Given the description of an element on the screen output the (x, y) to click on. 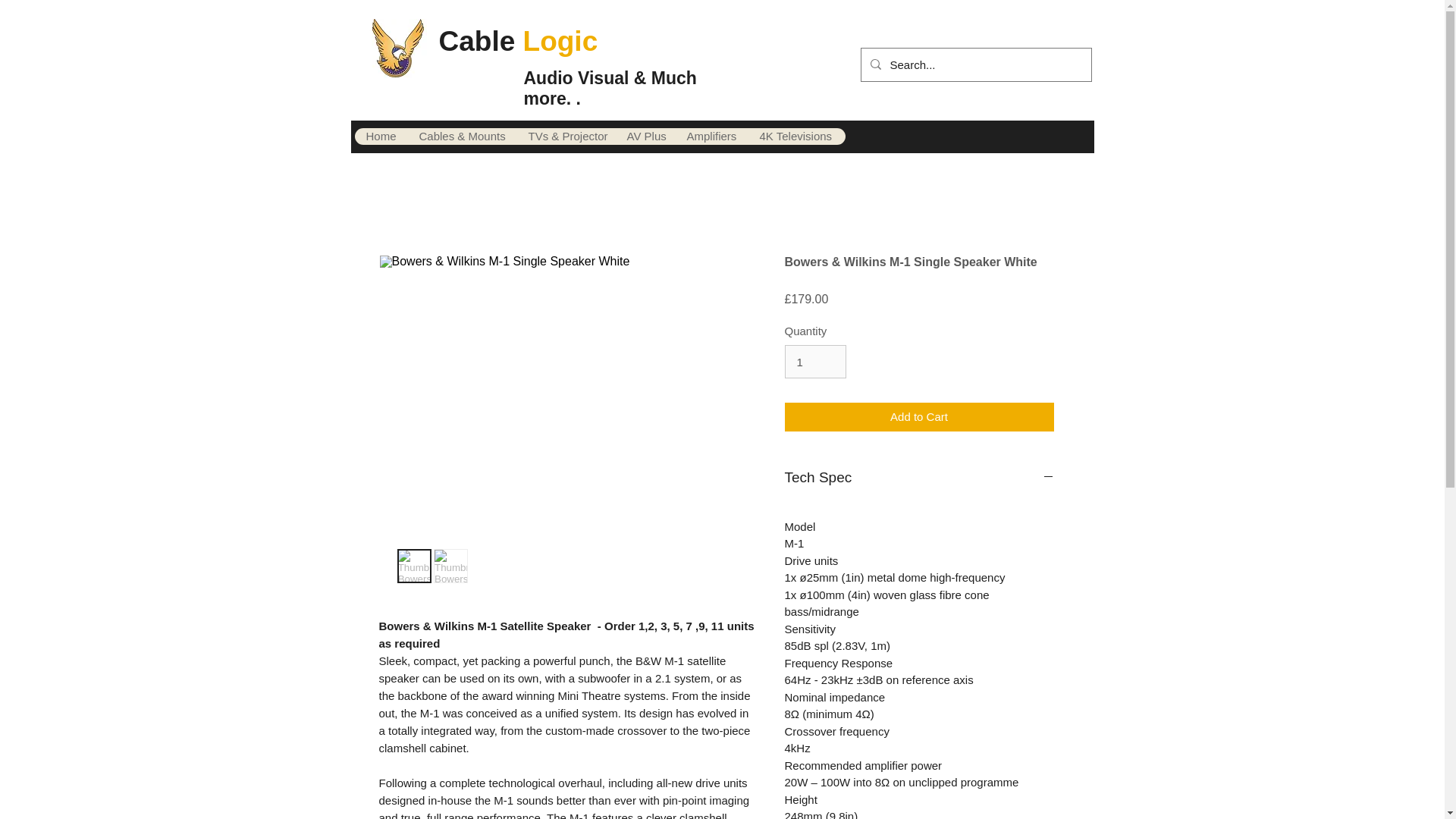
4K Televisions (794, 135)
1 (814, 361)
AV Plus (644, 135)
Log In (1012, 63)
Amplifiers (711, 135)
Cable Logic (517, 40)
Home (381, 135)
